Given the description of an element on the screen output the (x, y) to click on. 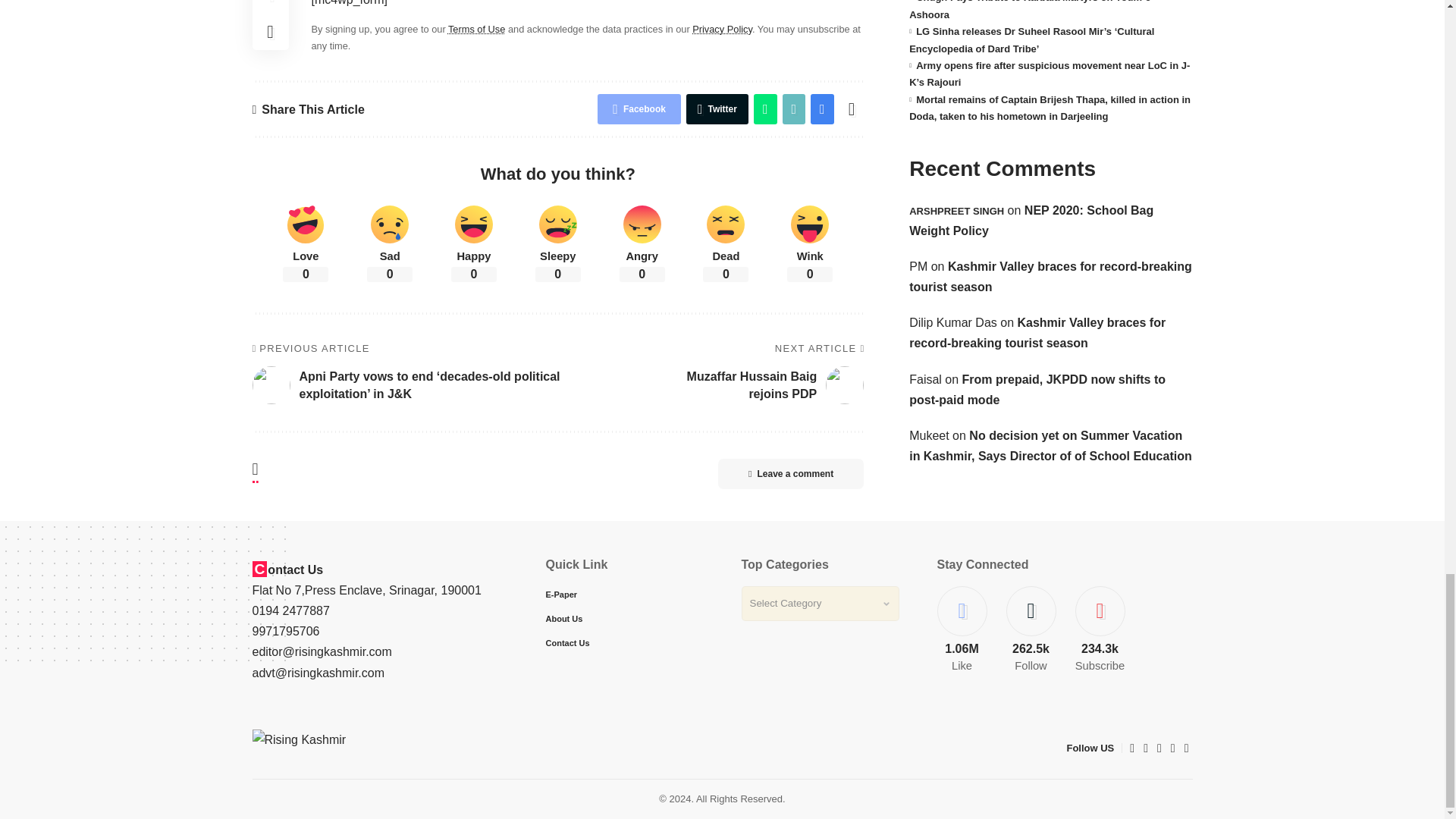
Rising Kashmir (352, 748)
